Given the description of an element on the screen output the (x, y) to click on. 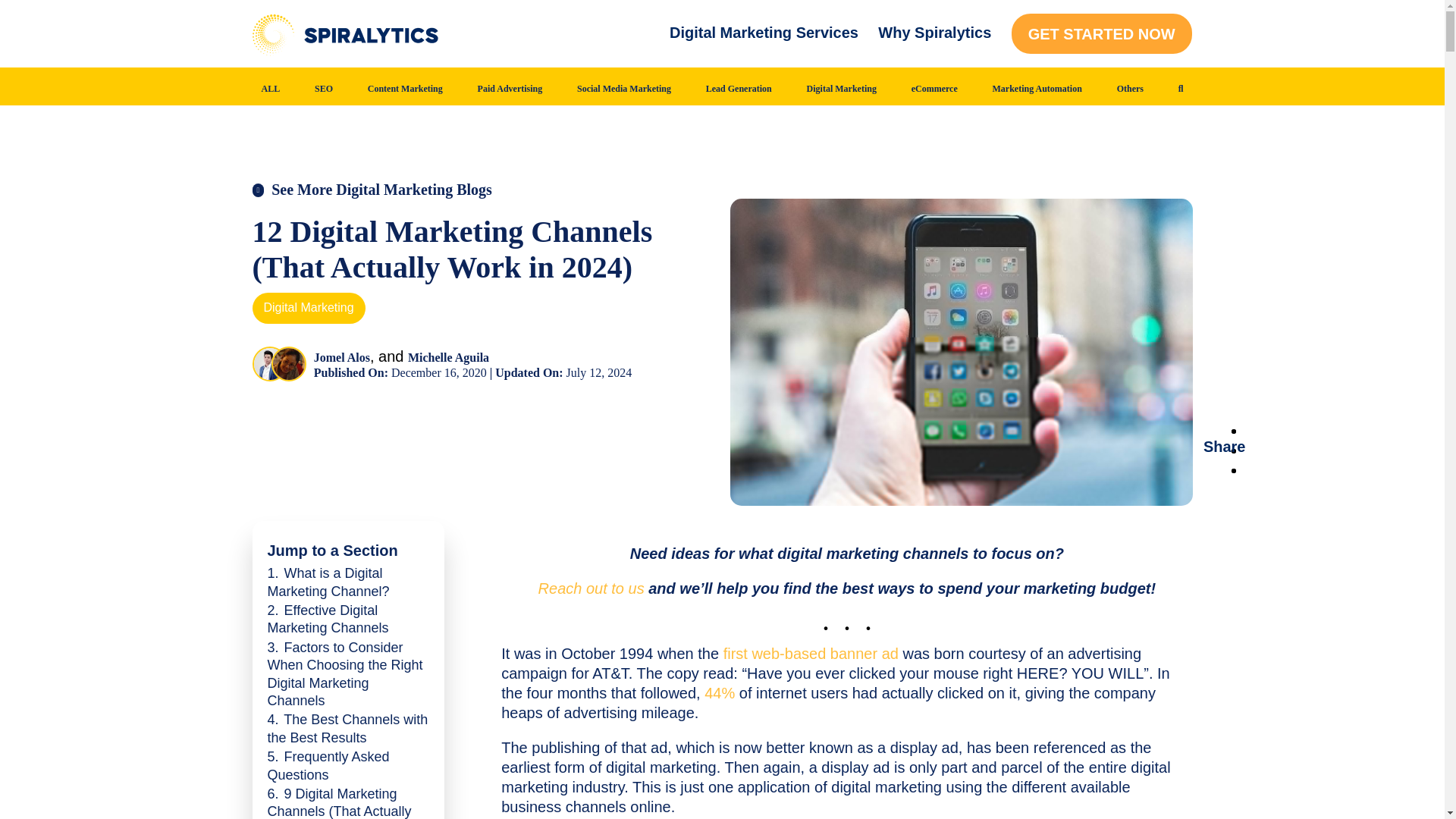
Marketing Automation (1036, 88)
Digital Marketing (841, 88)
Michelle Aguila (287, 363)
GET STARTED NOW (1101, 33)
Paid Advertising (510, 88)
Jomel Alos (268, 363)
Others (1129, 88)
Digital Marketing Services (763, 33)
Social Media Marketing (623, 88)
SEO (323, 88)
Lead Generation (738, 88)
Content Marketing (405, 88)
eCommerce (934, 88)
Why Spiralytics (934, 33)
ALL (269, 88)
